Given the description of an element on the screen output the (x, y) to click on. 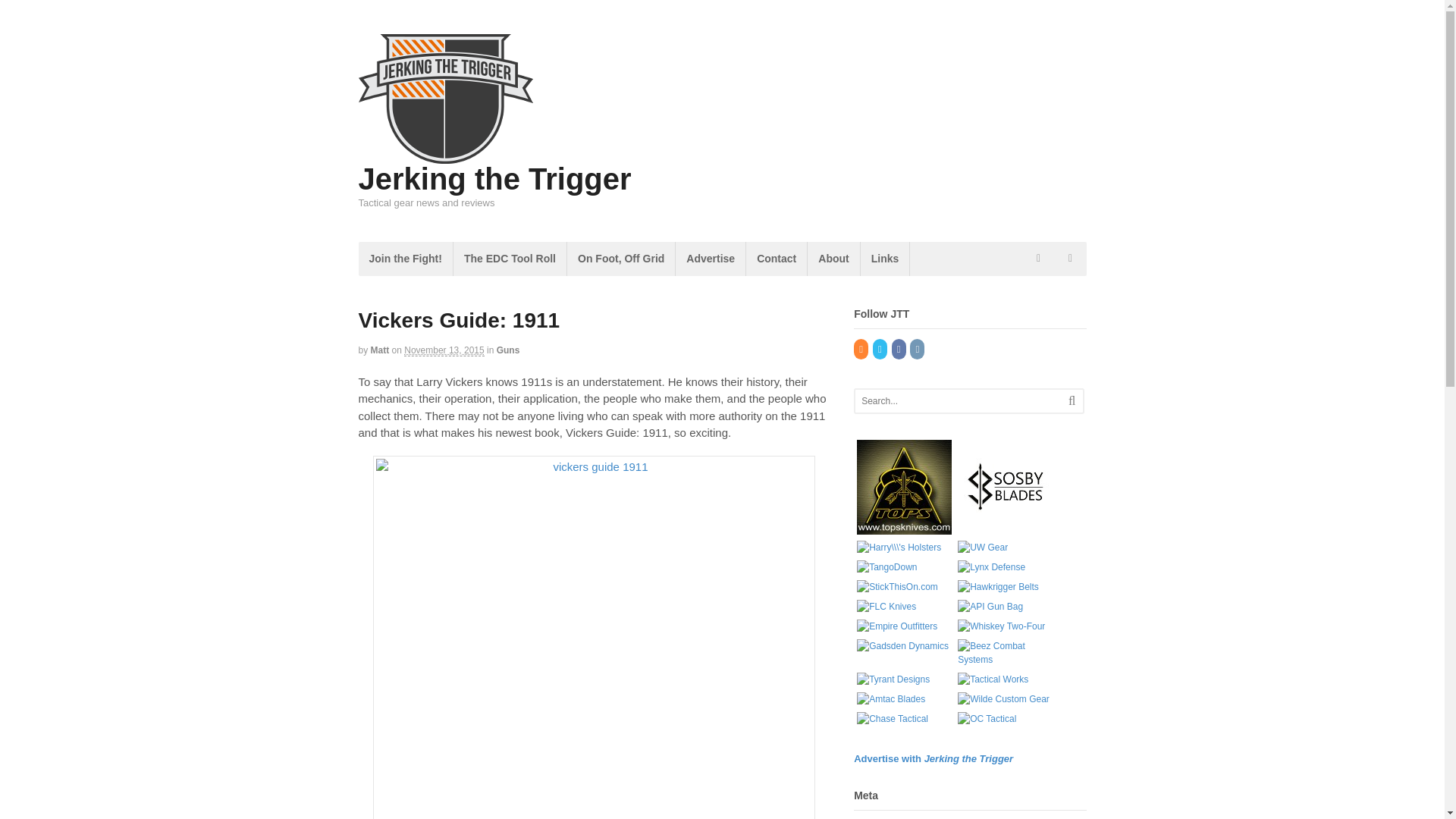
The EDC Tool Roll (509, 258)
Links (885, 258)
Posts by Matt (380, 349)
Matt (380, 349)
On Foot, Off Grid (621, 258)
Guns (507, 349)
Contact (775, 258)
2015-11-13T08:58:54-0800 (443, 350)
View all items in Guns (507, 349)
Advertise (710, 258)
Tactical gear news and reviews (445, 155)
Search (1071, 400)
About (833, 258)
Join the Fight! (404, 258)
Jerking the Trigger (494, 178)
